Given the description of an element on the screen output the (x, y) to click on. 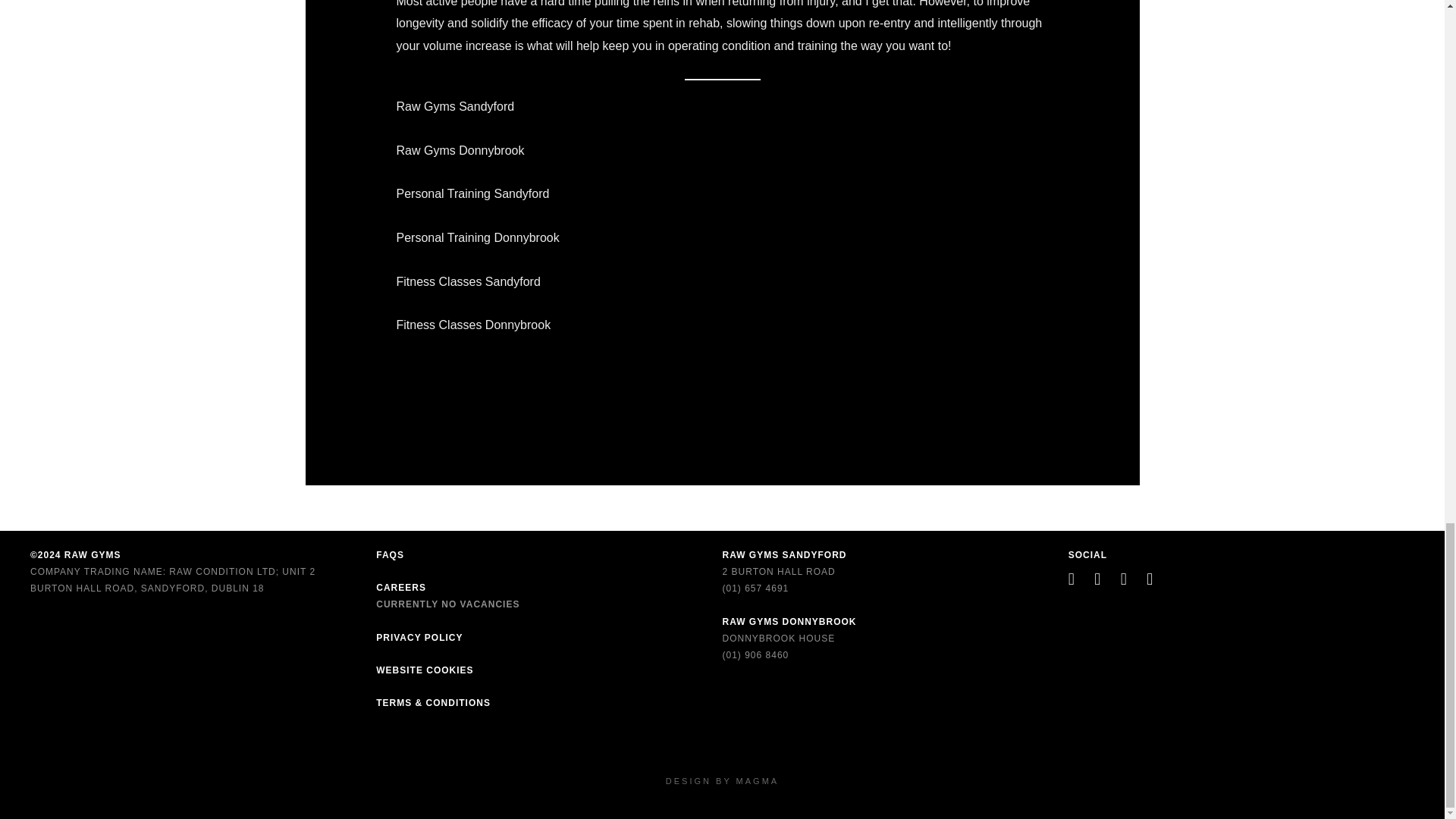
PRIVACY POLICY (419, 637)
Personal Training Sandyford (472, 193)
Fitness Classes Sandyford (468, 281)
Fitness Classes Donnybrook (473, 324)
DESIGN BY MAGMA (721, 780)
Raw Gyms Donnybrook (460, 150)
Raw Gyms Sandyford (454, 106)
Personal Training Donnybrook (477, 237)
WEBSITE COOKIES (424, 670)
